Given the description of an element on the screen output the (x, y) to click on. 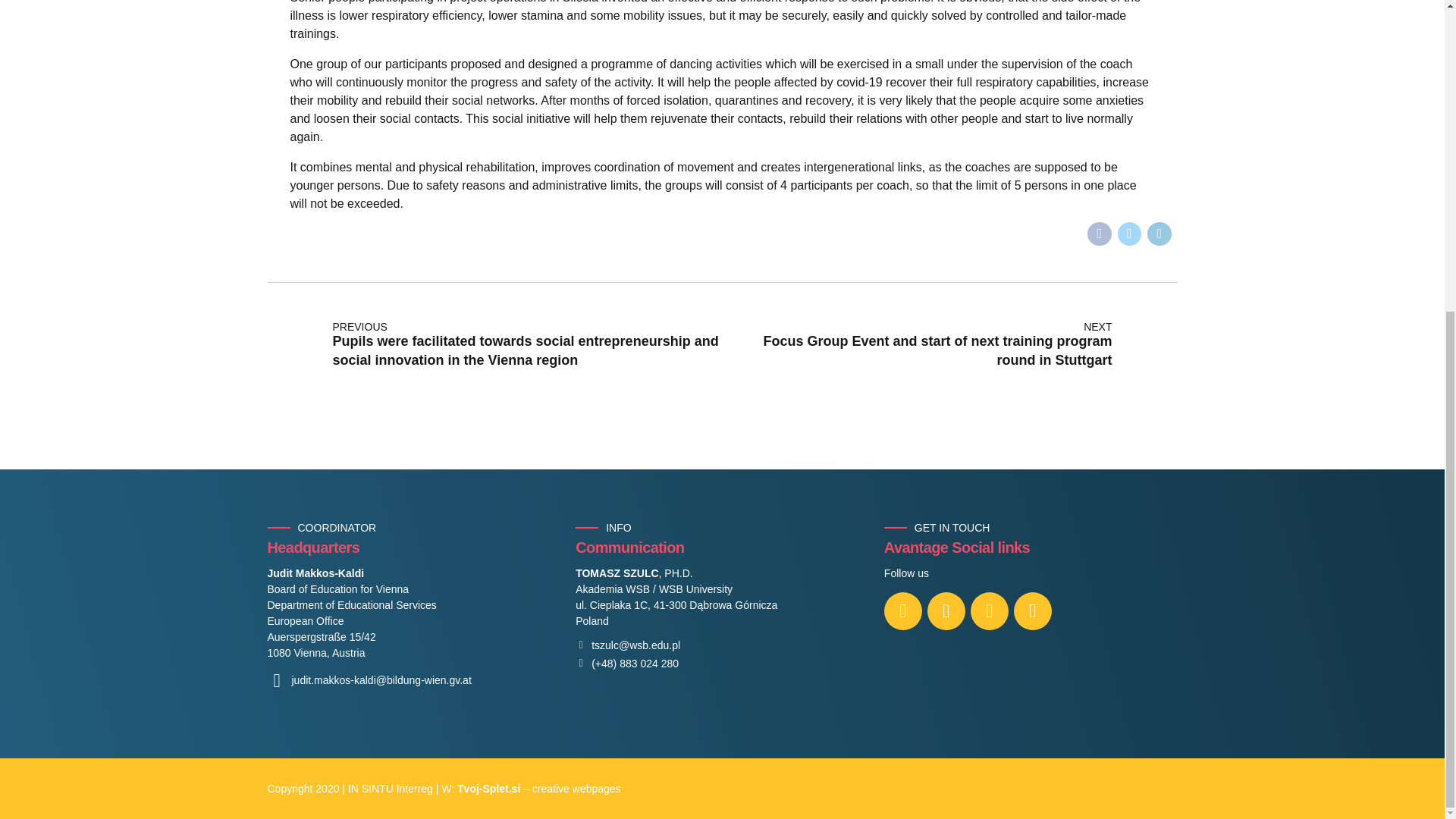
Share on Twitter (1129, 233)
Share on Linkedin (1159, 233)
Share on Facebook (1099, 233)
